Given the description of an element on the screen output the (x, y) to click on. 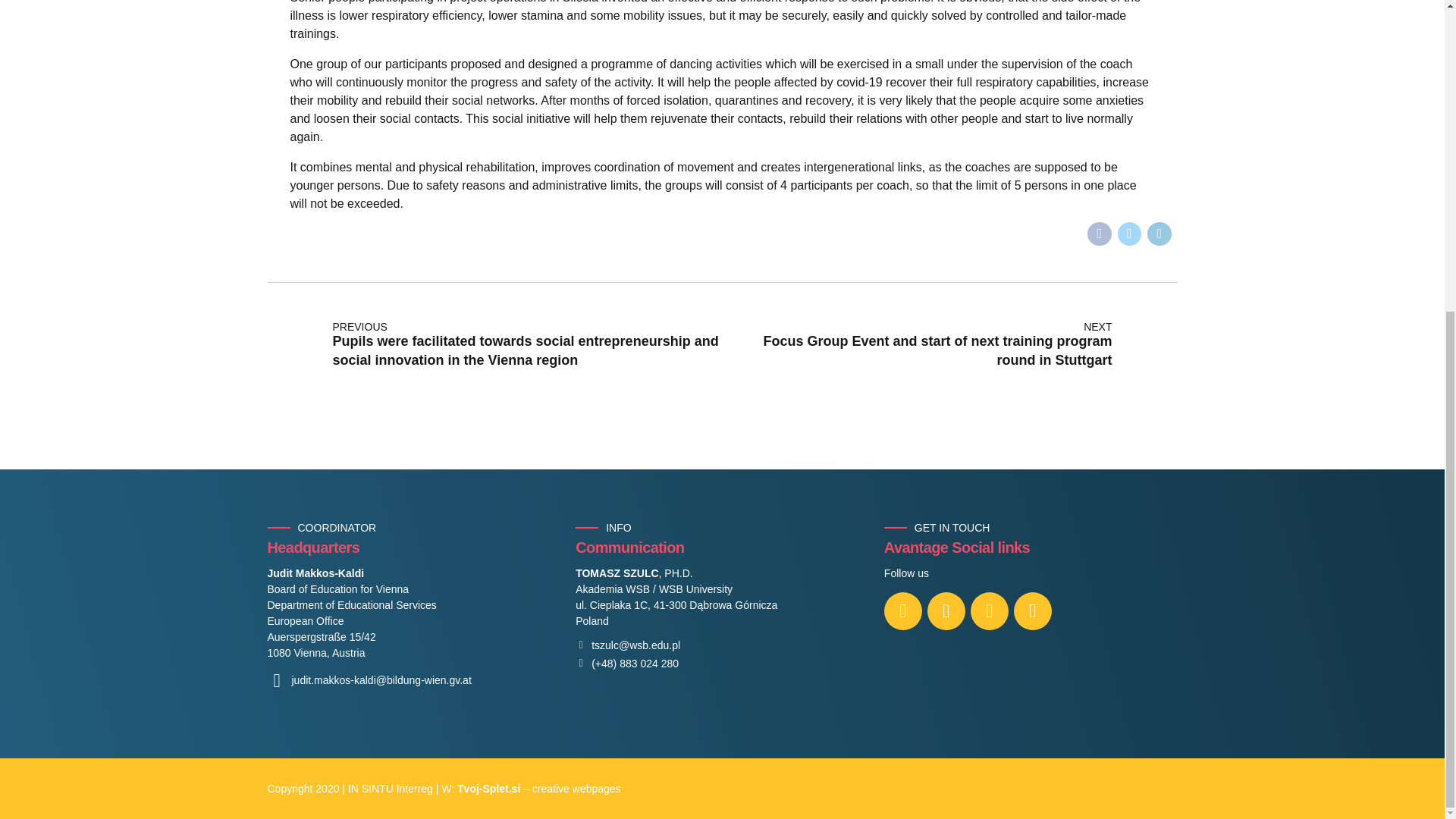
Share on Twitter (1129, 233)
Share on Linkedin (1159, 233)
Share on Facebook (1099, 233)
